Given the description of an element on the screen output the (x, y) to click on. 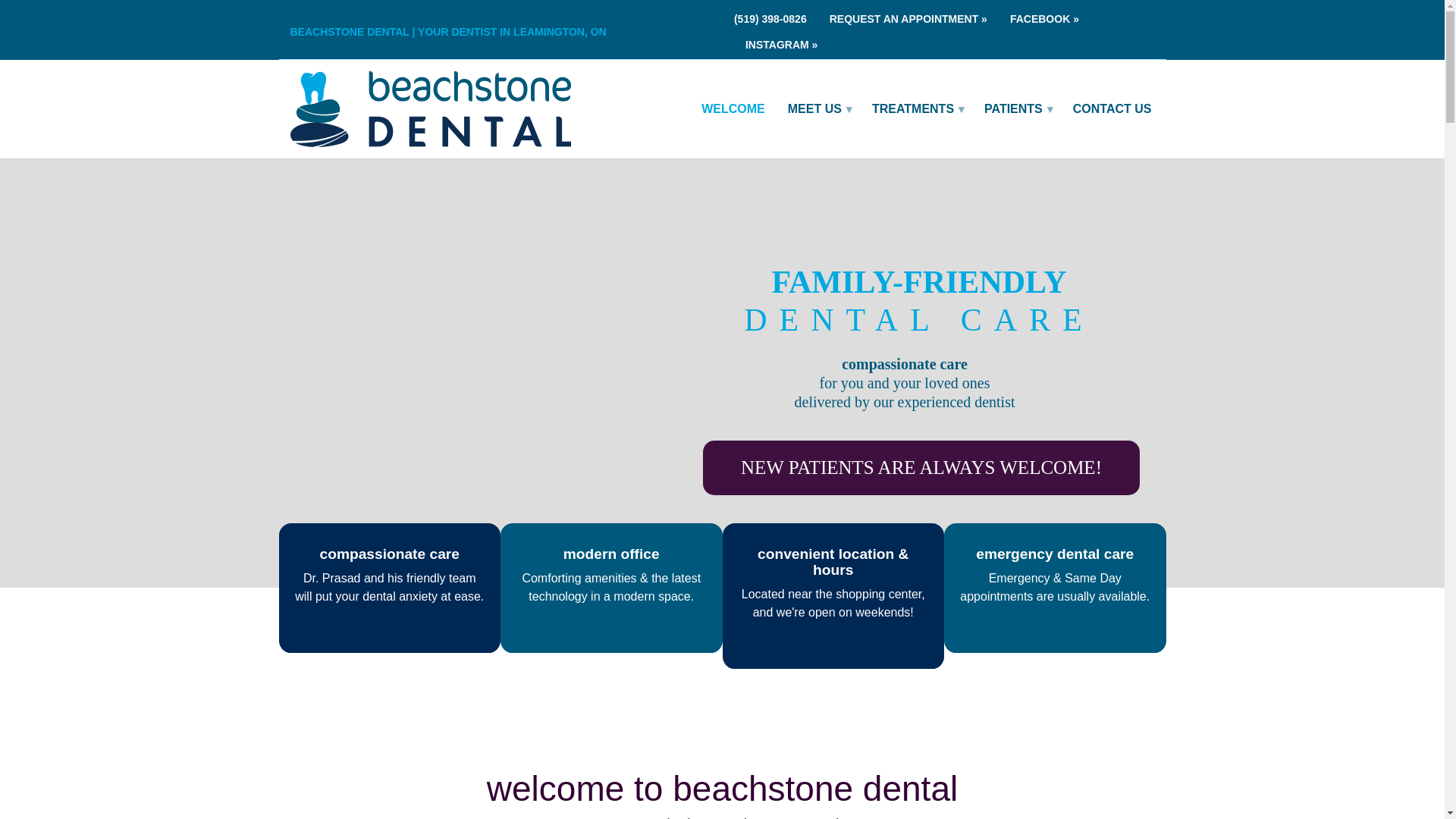
Home of Beachstone Dental (733, 108)
Reach out to us! (908, 18)
Meet the Beachstone Dental Family (818, 108)
TREATMENTS (916, 108)
MEET US (818, 108)
Call us today to get started! (775, 18)
WELCOME (733, 108)
CONTACT US (1112, 108)
emergency dental care (1054, 553)
compassionate care (389, 553)
PATIENTS (1016, 108)
modern office (611, 553)
NEW PATIENTS ARE ALWAYS WELCOME! (921, 467)
Dental Services in Leamington, On (916, 108)
